Given the description of an element on the screen output the (x, y) to click on. 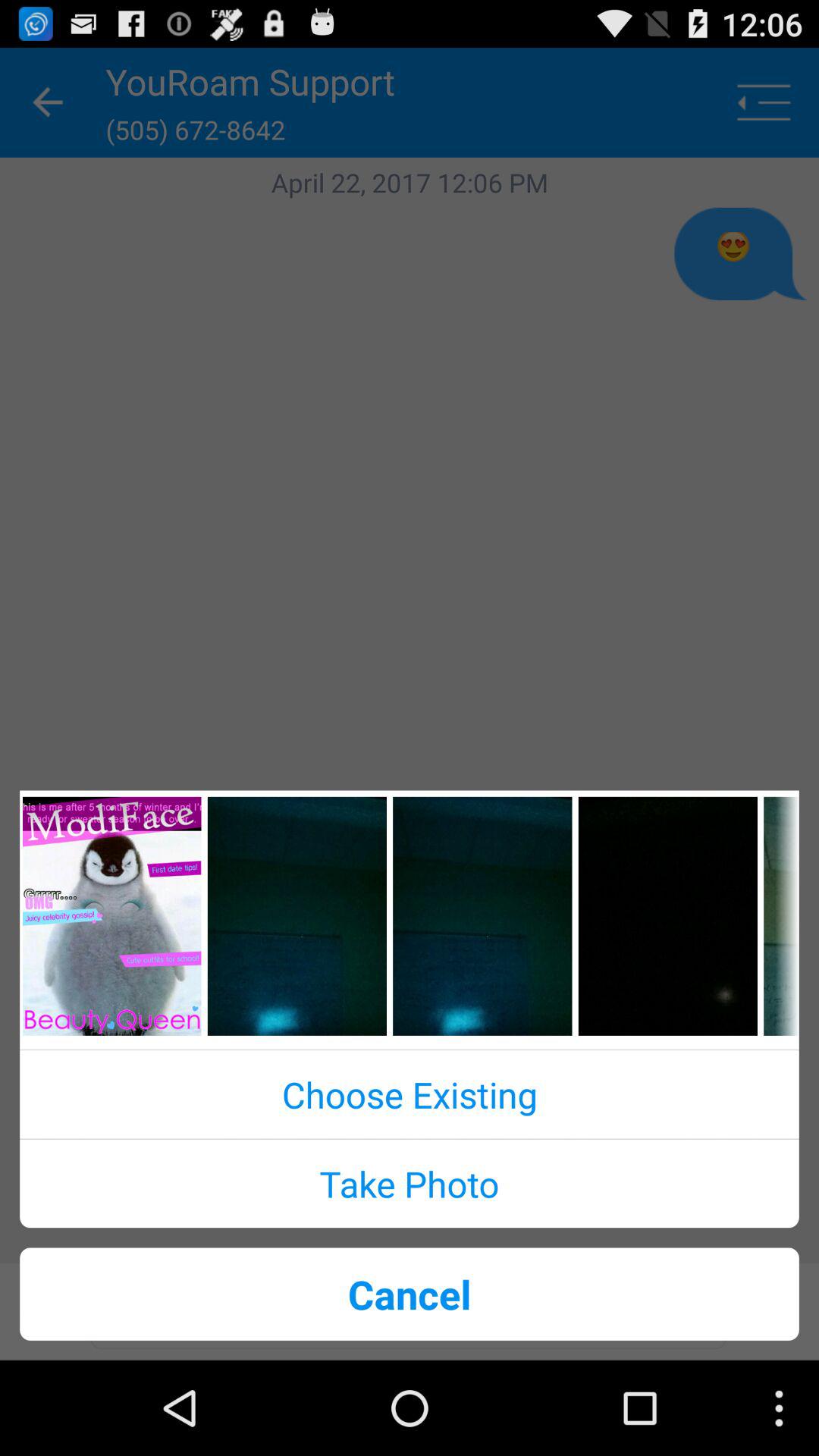
select photo (111, 915)
